Given the description of an element on the screen output the (x, y) to click on. 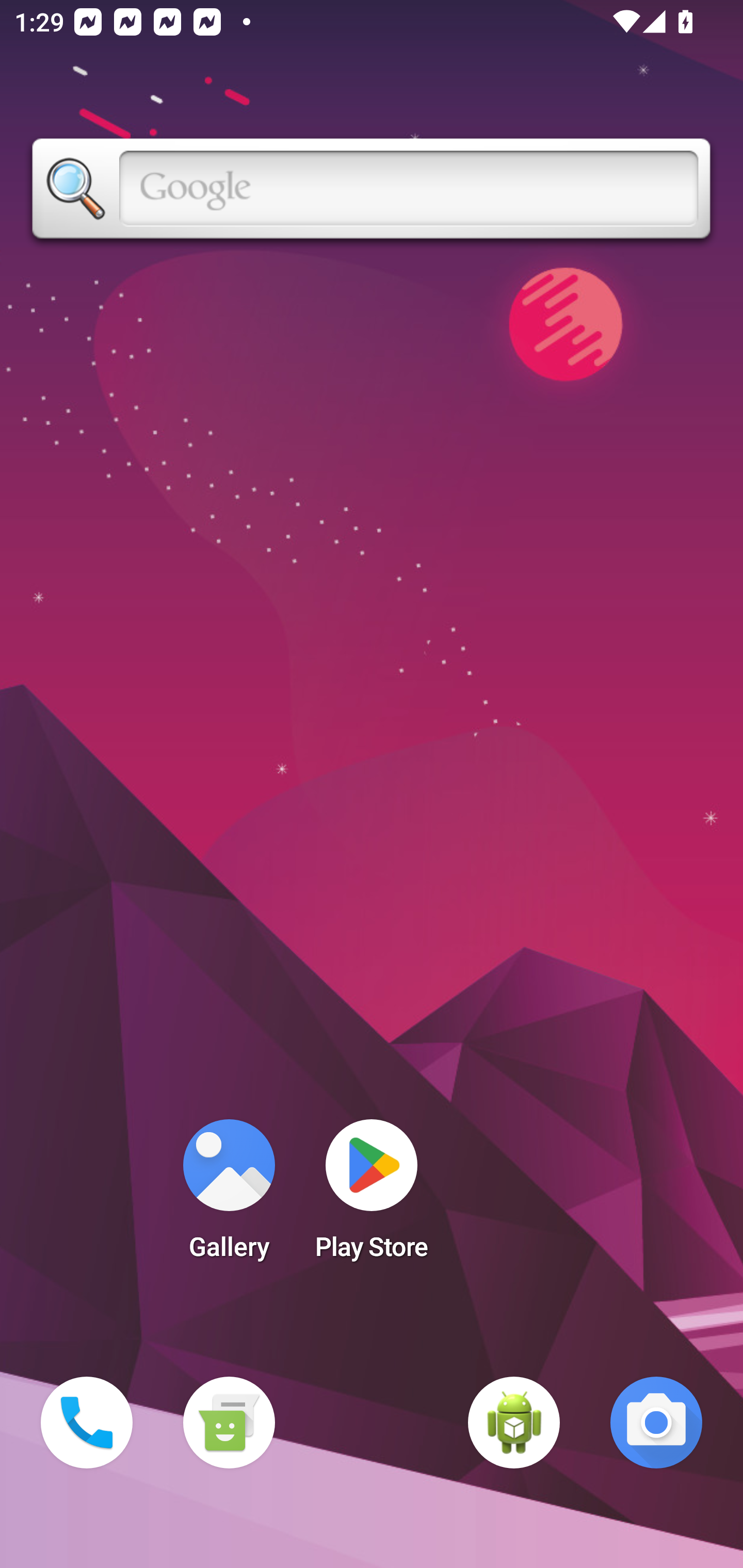
Gallery (228, 1195)
Play Store (371, 1195)
Phone (86, 1422)
Messaging (228, 1422)
WebView Browser Tester (513, 1422)
Camera (656, 1422)
